Given the description of an element on the screen output the (x, y) to click on. 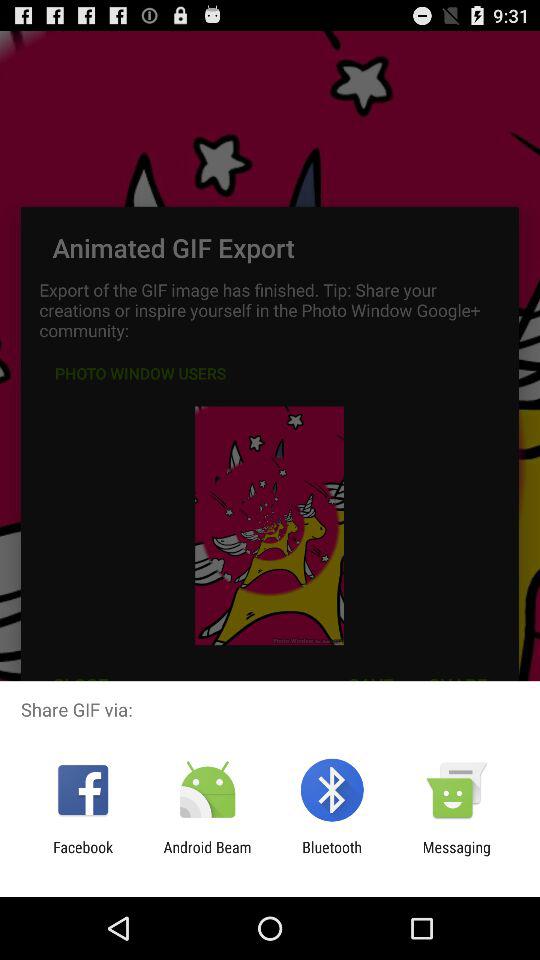
click the messaging icon (456, 856)
